Given the description of an element on the screen output the (x, y) to click on. 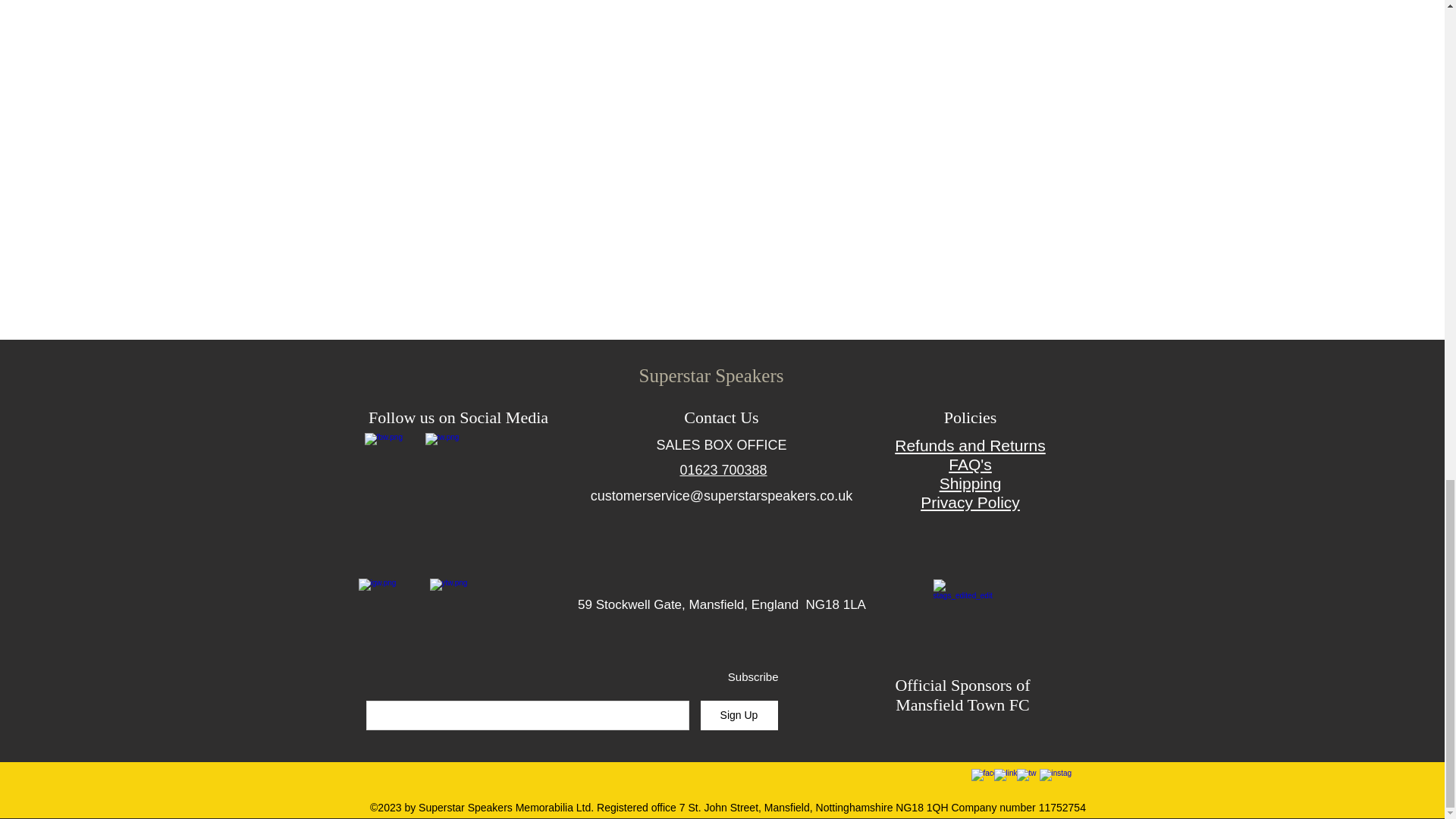
Superstar Speakers (711, 375)
Sign Up (738, 715)
01623 700388 (723, 469)
Refunds and Returns (970, 445)
Shipping (970, 483)
Privacy Policy (970, 502)
FAQ's (970, 464)
